Given the description of an element on the screen output the (x, y) to click on. 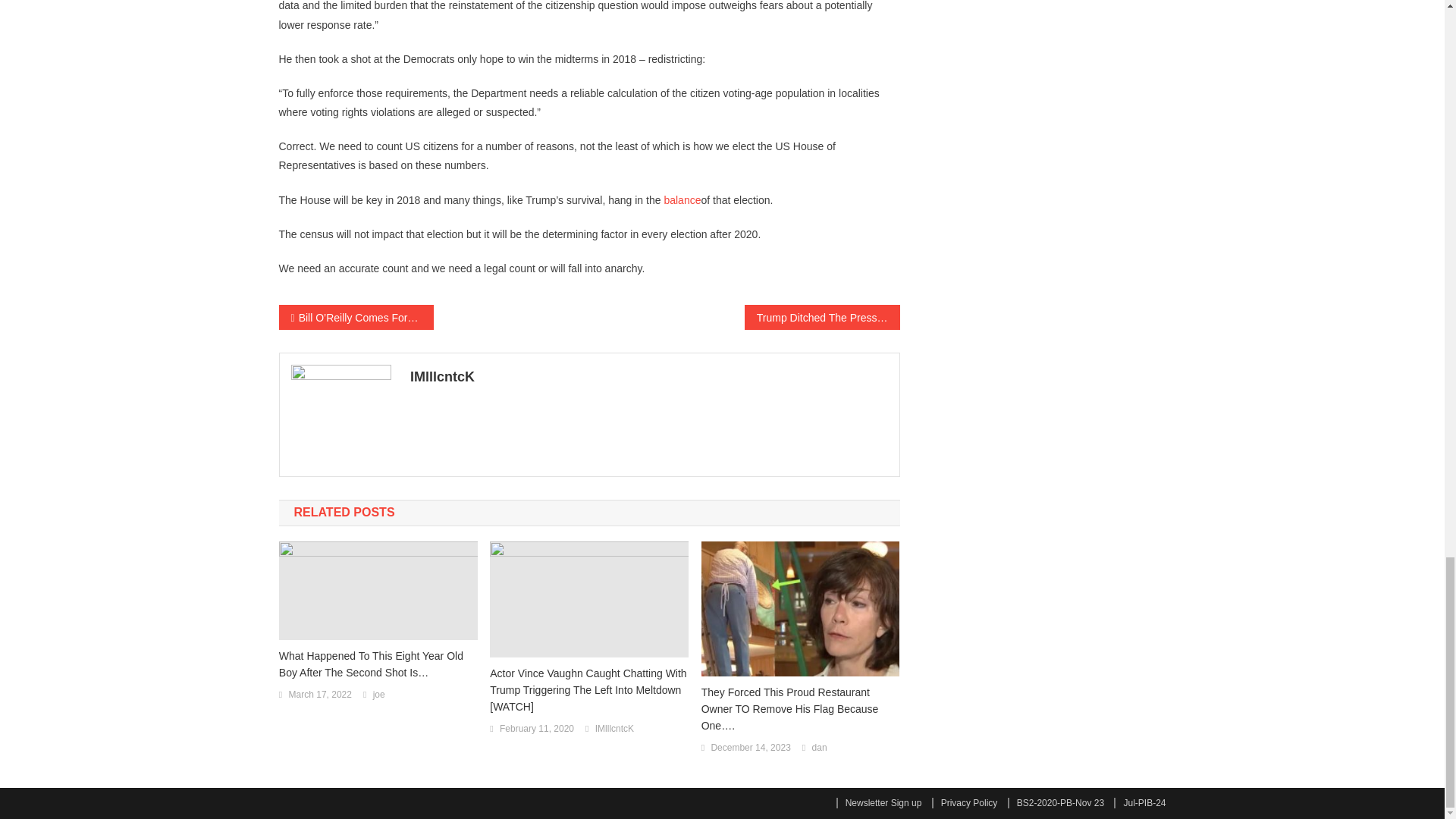
February 11, 2020 (536, 729)
Jul-PIB-24 (1139, 802)
December 14, 2023 (750, 748)
March 17, 2022 (320, 695)
dan (819, 748)
Newsletter Sign up (878, 802)
IMlllcntcK (614, 729)
BS2-2020-PB-Nov 23 (1055, 802)
balance (681, 200)
